Given the description of an element on the screen output the (x, y) to click on. 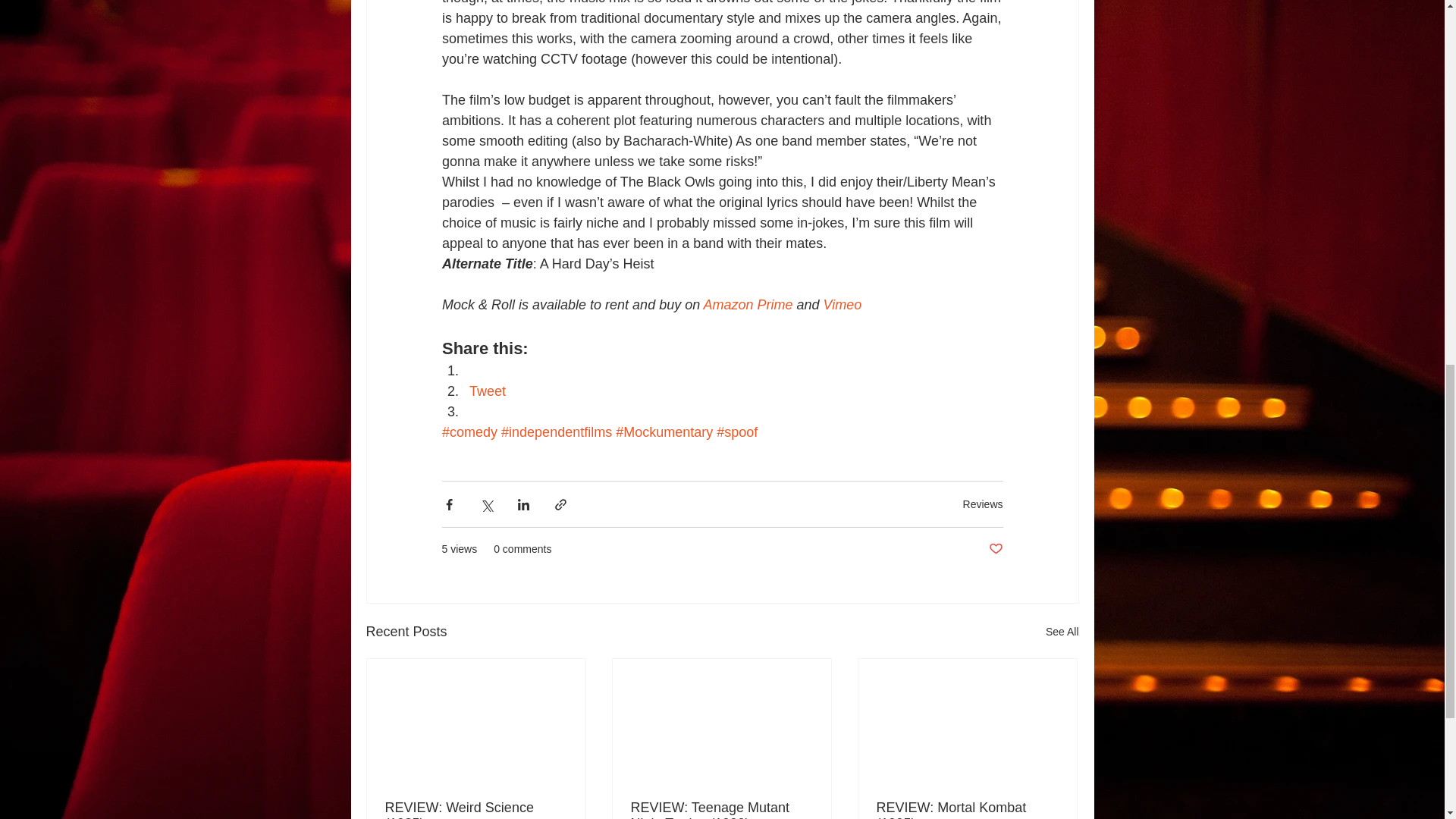
Tweet (486, 391)
See All (1061, 631)
Reviews (982, 503)
Amazon Prime (747, 304)
Vimeo (841, 304)
Post not marked as liked (995, 549)
